Given the description of an element on the screen output the (x, y) to click on. 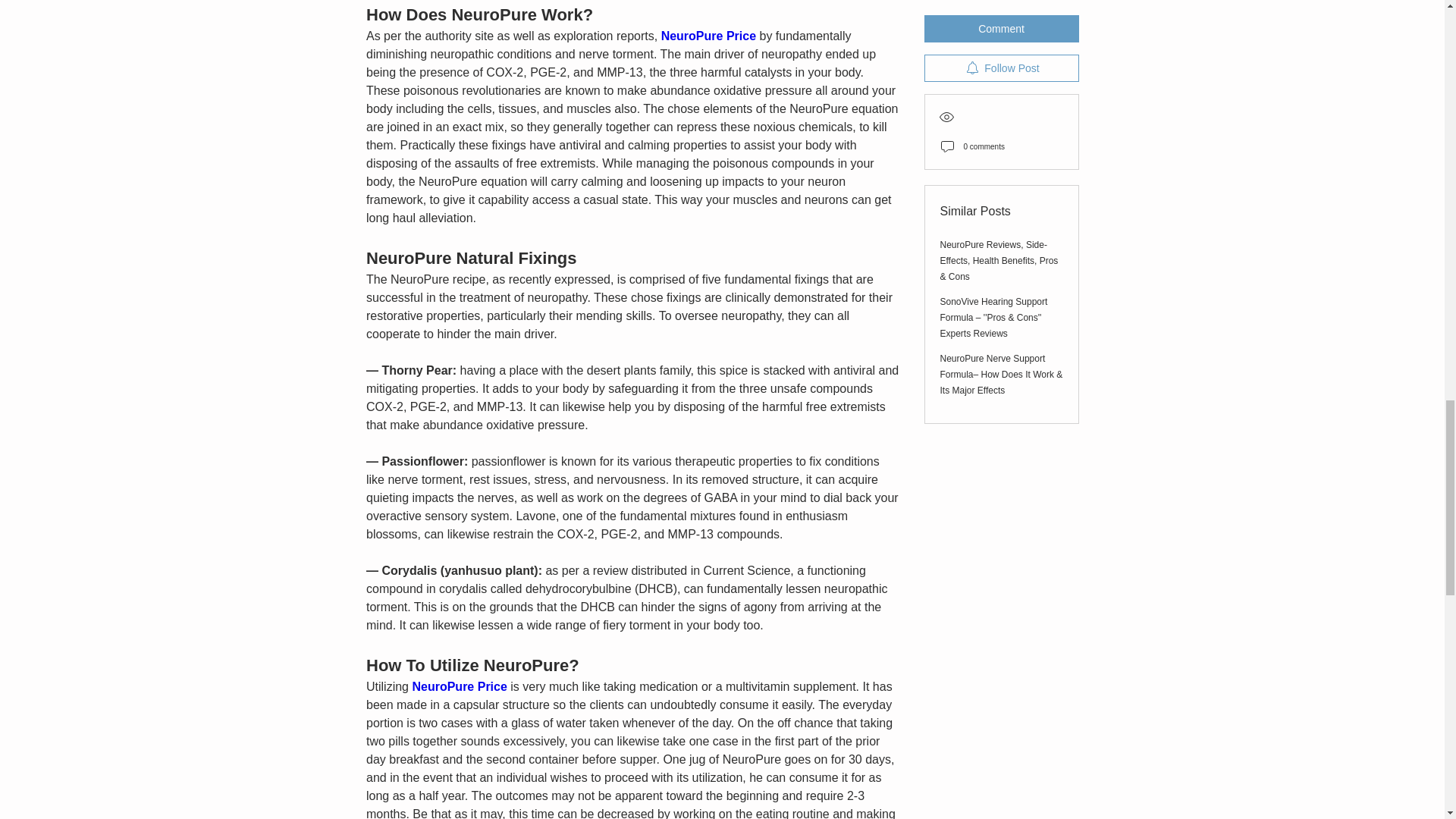
NeuroPure Price (459, 686)
NeuroPure Price (708, 35)
